Given the description of an element on the screen output the (x, y) to click on. 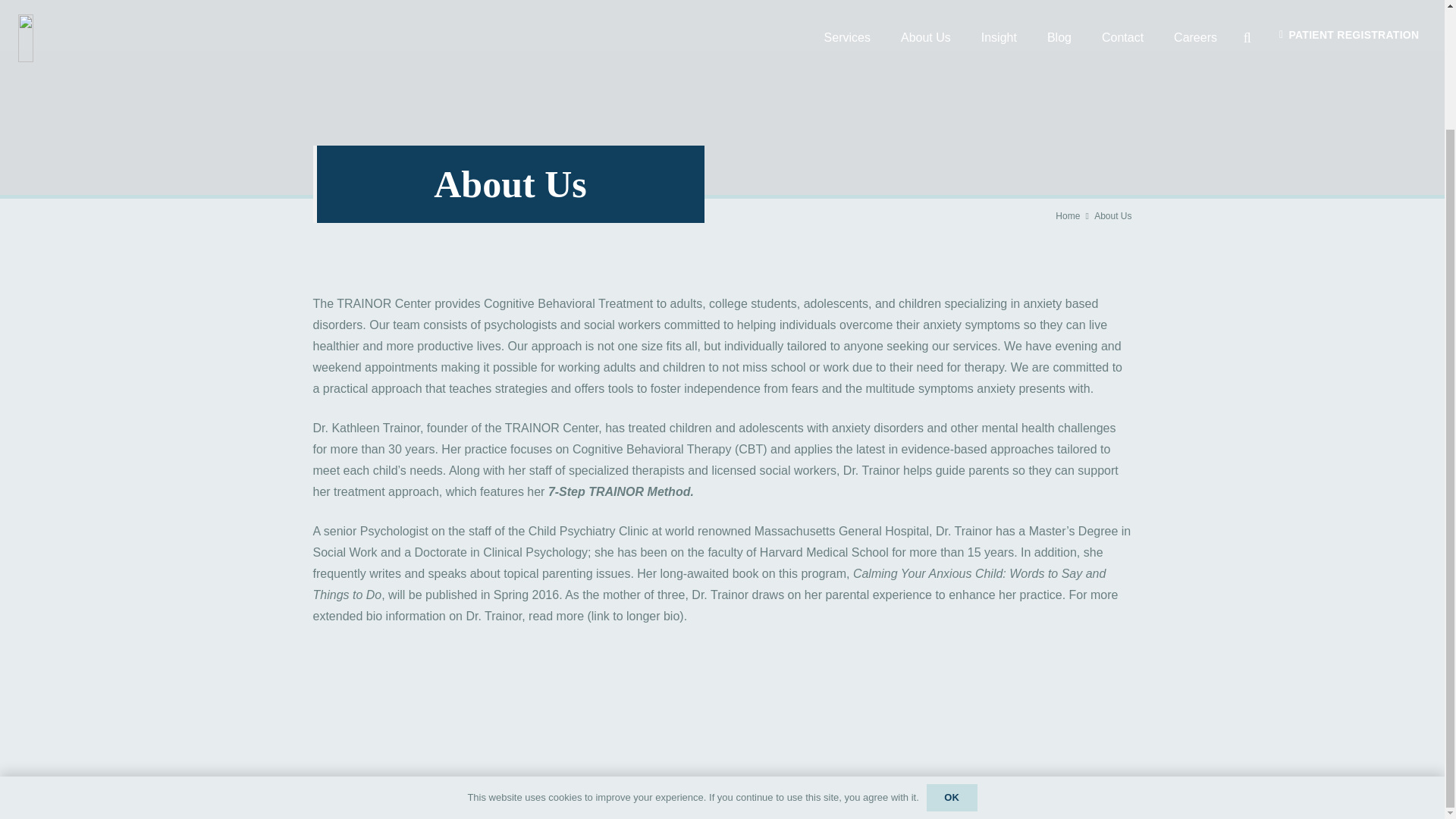
BBDS Design (700, 789)
About Us (1112, 215)
OK (951, 655)
Home (1067, 215)
